Given the description of an element on the screen output the (x, y) to click on. 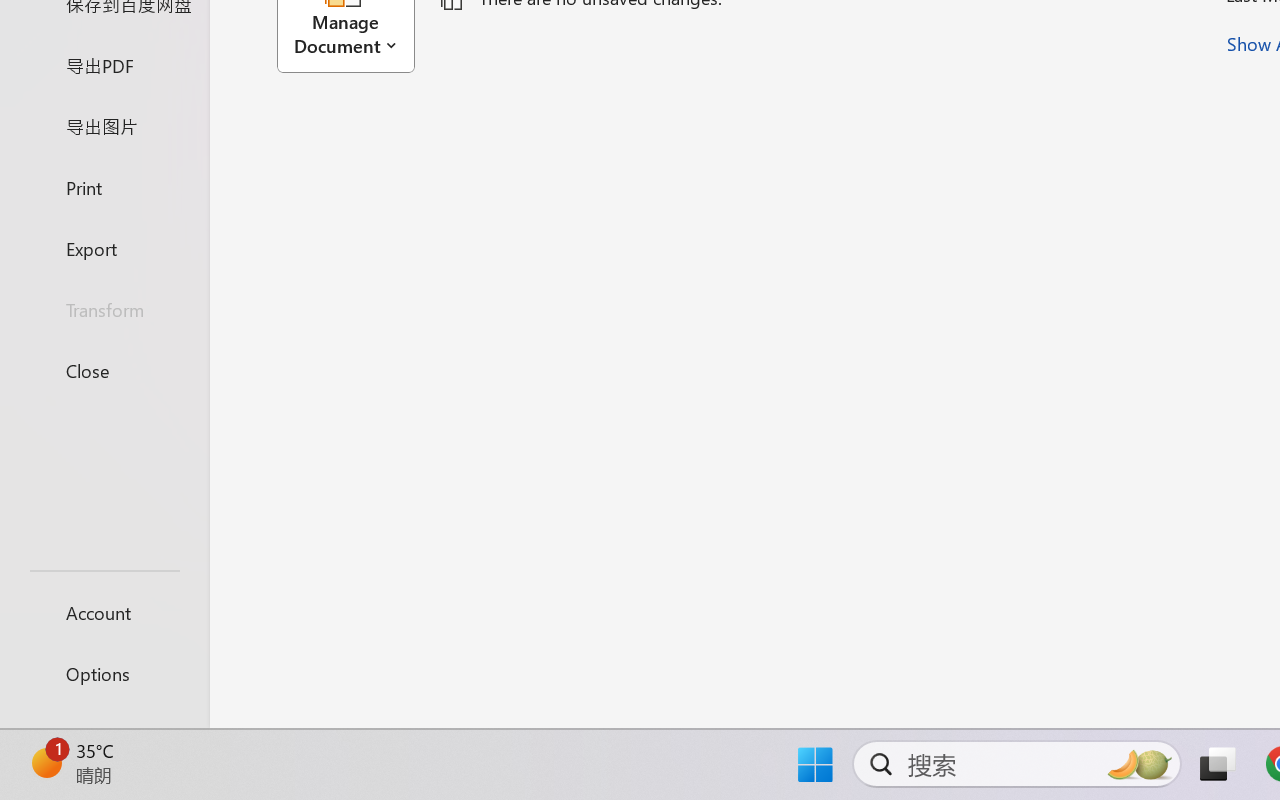
Options (104, 673)
Export (104, 248)
Account (104, 612)
Print (104, 186)
Transform (104, 309)
